Given the description of an element on the screen output the (x, y) to click on. 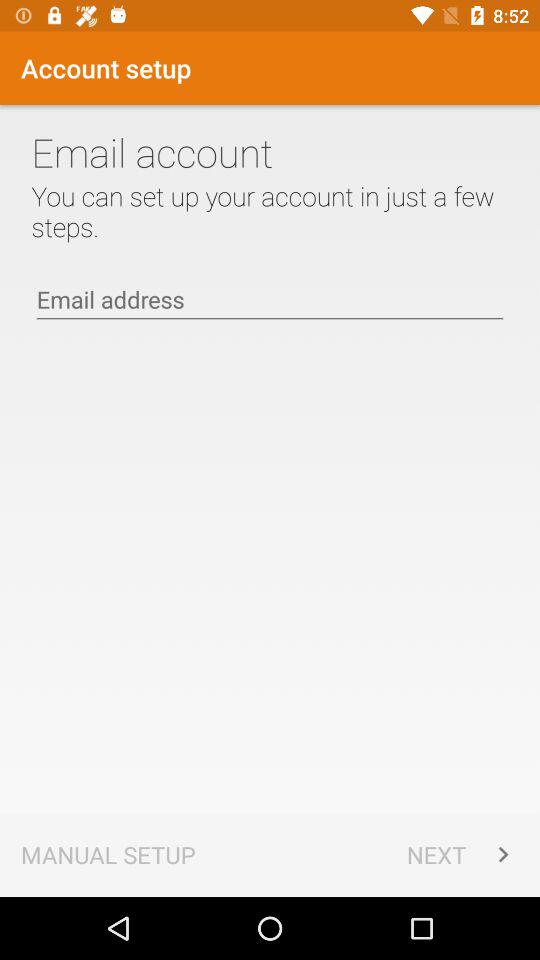
turn off the icon at the bottom right corner (462, 854)
